Given the description of an element on the screen output the (x, y) to click on. 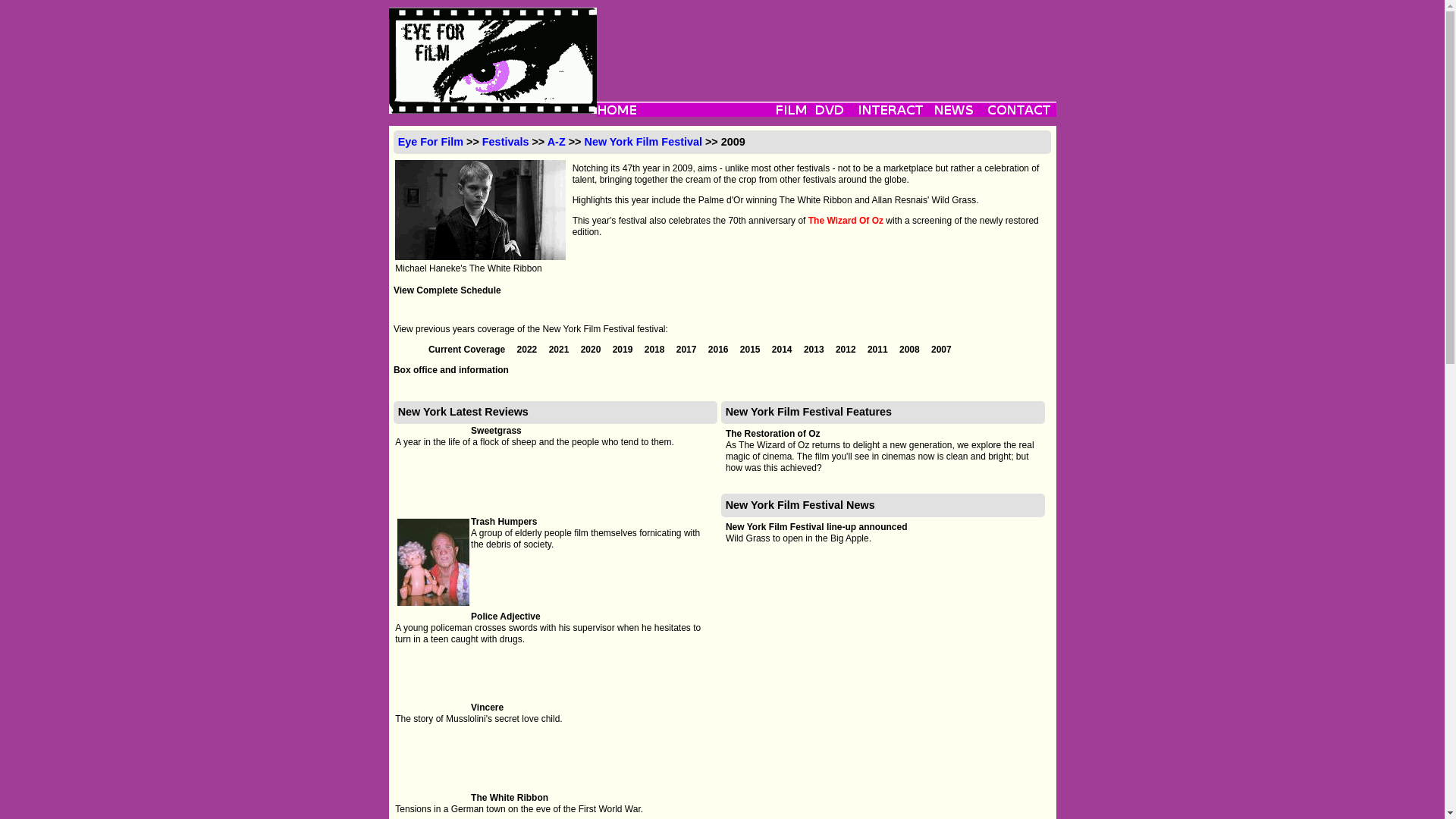
A-Z (556, 141)
2019 (623, 348)
2020 (592, 348)
2021 (560, 348)
2017 (687, 348)
Current Coverage (468, 348)
2018 (655, 348)
New York Film Festival (643, 141)
2022 (528, 348)
2014 (782, 348)
The Wizard Of Oz (845, 220)
View Complete Schedule (446, 290)
2015 (750, 348)
Festivals (505, 141)
Eye For Film (430, 141)
